Given the description of an element on the screen output the (x, y) to click on. 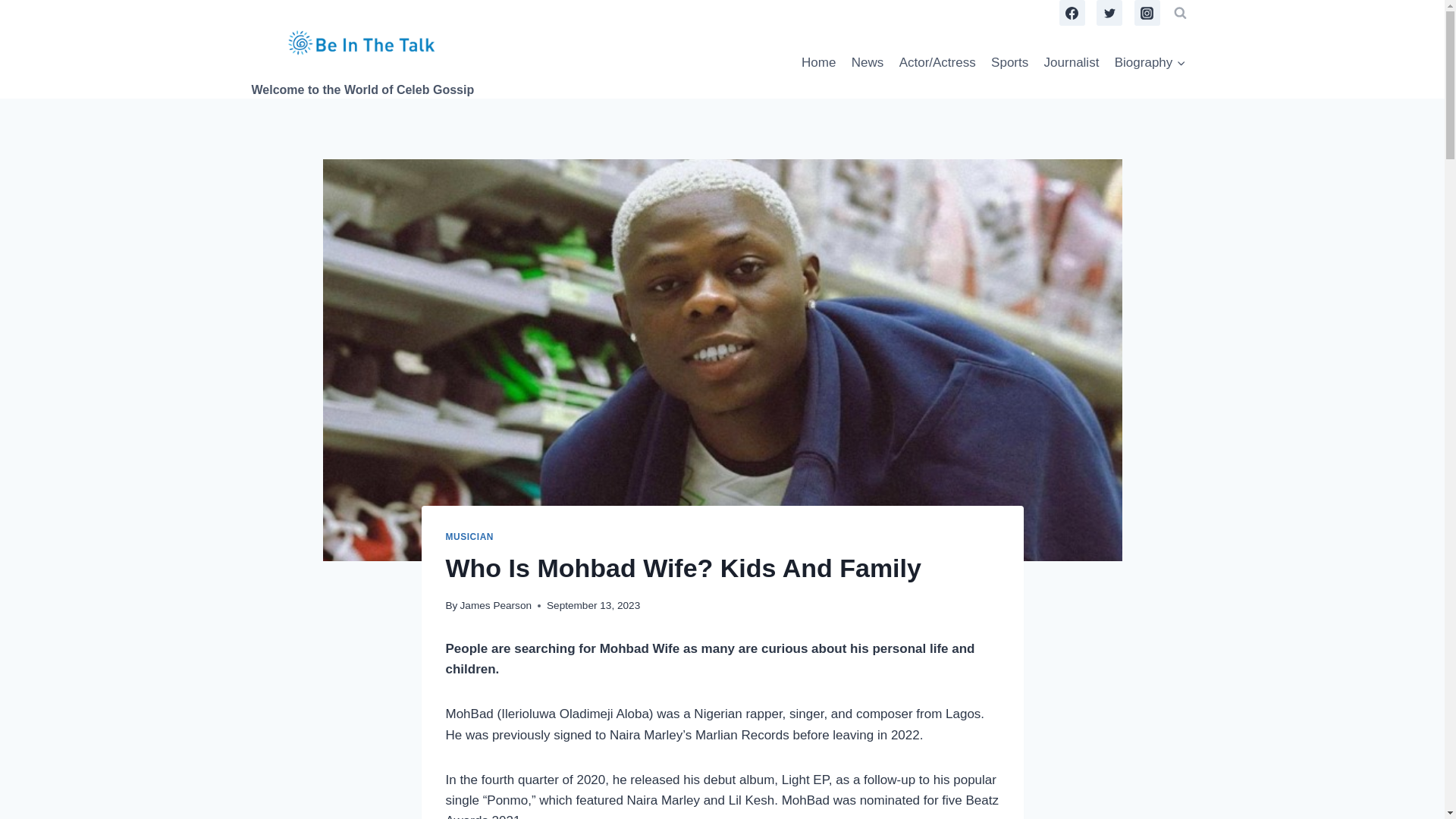
Welcome to the World of Celeb Gossip (362, 61)
News (867, 62)
Home (818, 62)
Sports (1010, 62)
James Pearson (495, 604)
Biography (1149, 62)
MUSICIAN (470, 536)
Journalist (1070, 62)
